Given the description of an element on the screen output the (x, y) to click on. 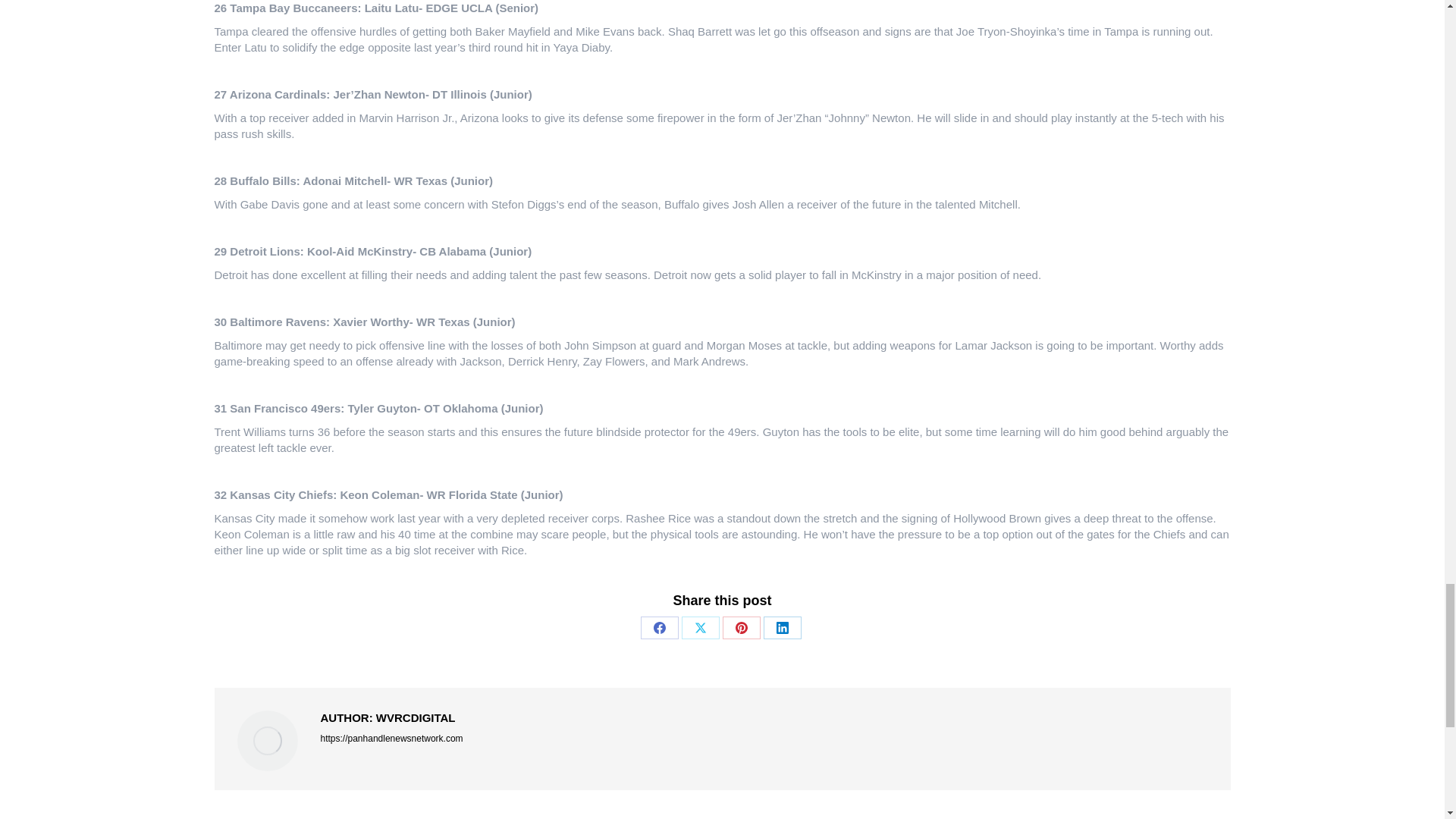
Pinterest (741, 627)
Facebook (659, 627)
X (700, 627)
LinkedIn (781, 627)
